Given the description of an element on the screen output the (x, y) to click on. 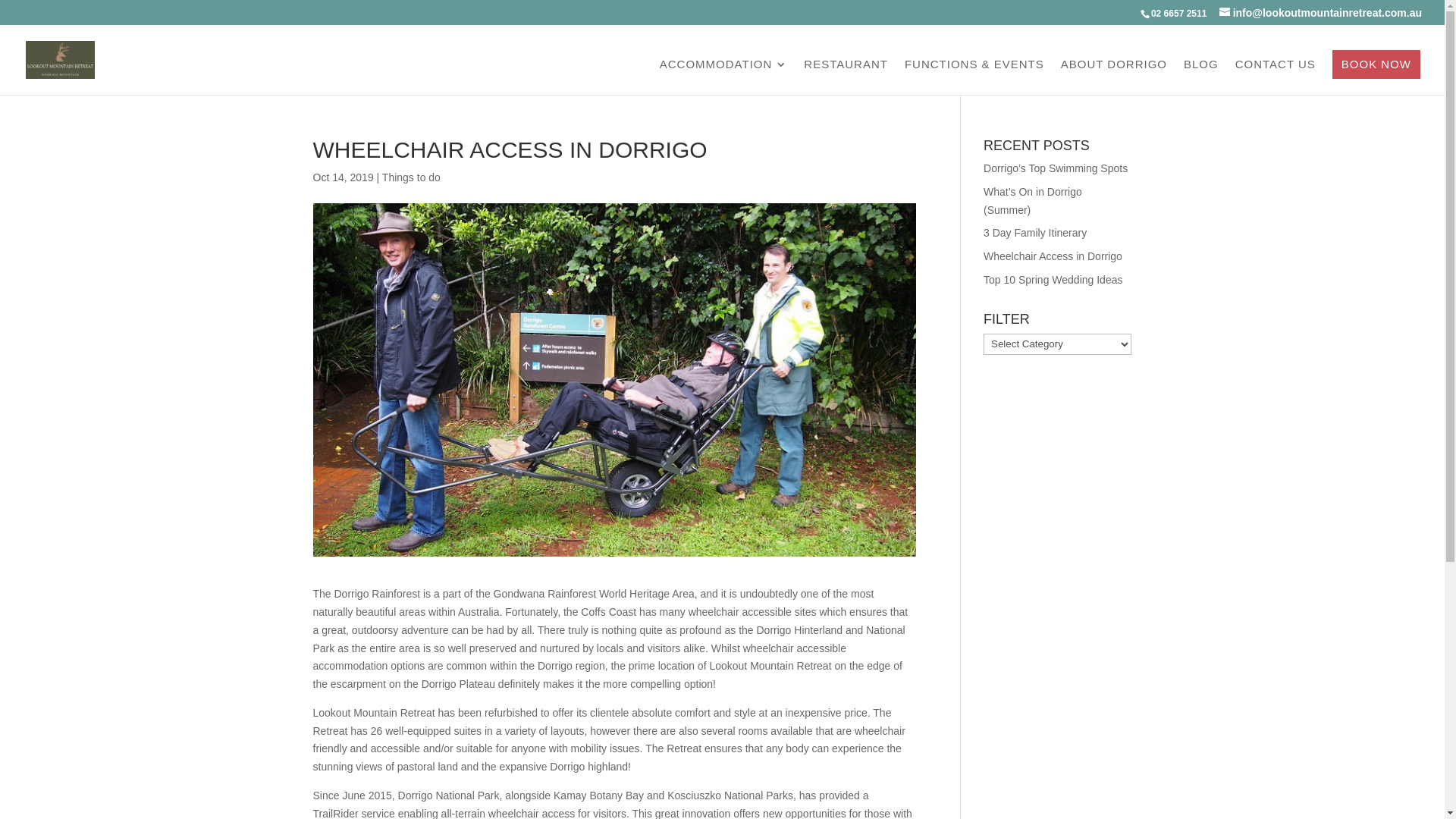
FUNCTIONS & EVENTS Element type: text (974, 76)
CONTACT US Element type: text (1275, 76)
ACCOMMODATION Element type: text (723, 76)
Top 10 Spring Wedding Ideas Element type: text (1052, 279)
Things to do Element type: text (411, 177)
ABOUT DORRIGO Element type: text (1113, 76)
BLOG Element type: text (1200, 76)
RESTAURANT Element type: text (845, 76)
info@lookoutmountainretreat.com.au Element type: text (1320, 12)
Wheelchair Access in Dorrigo Element type: text (1052, 256)
BOOK NOW Element type: text (1376, 64)
3 Day Family Itinerary Element type: text (1034, 232)
